Given the description of an element on the screen output the (x, y) to click on. 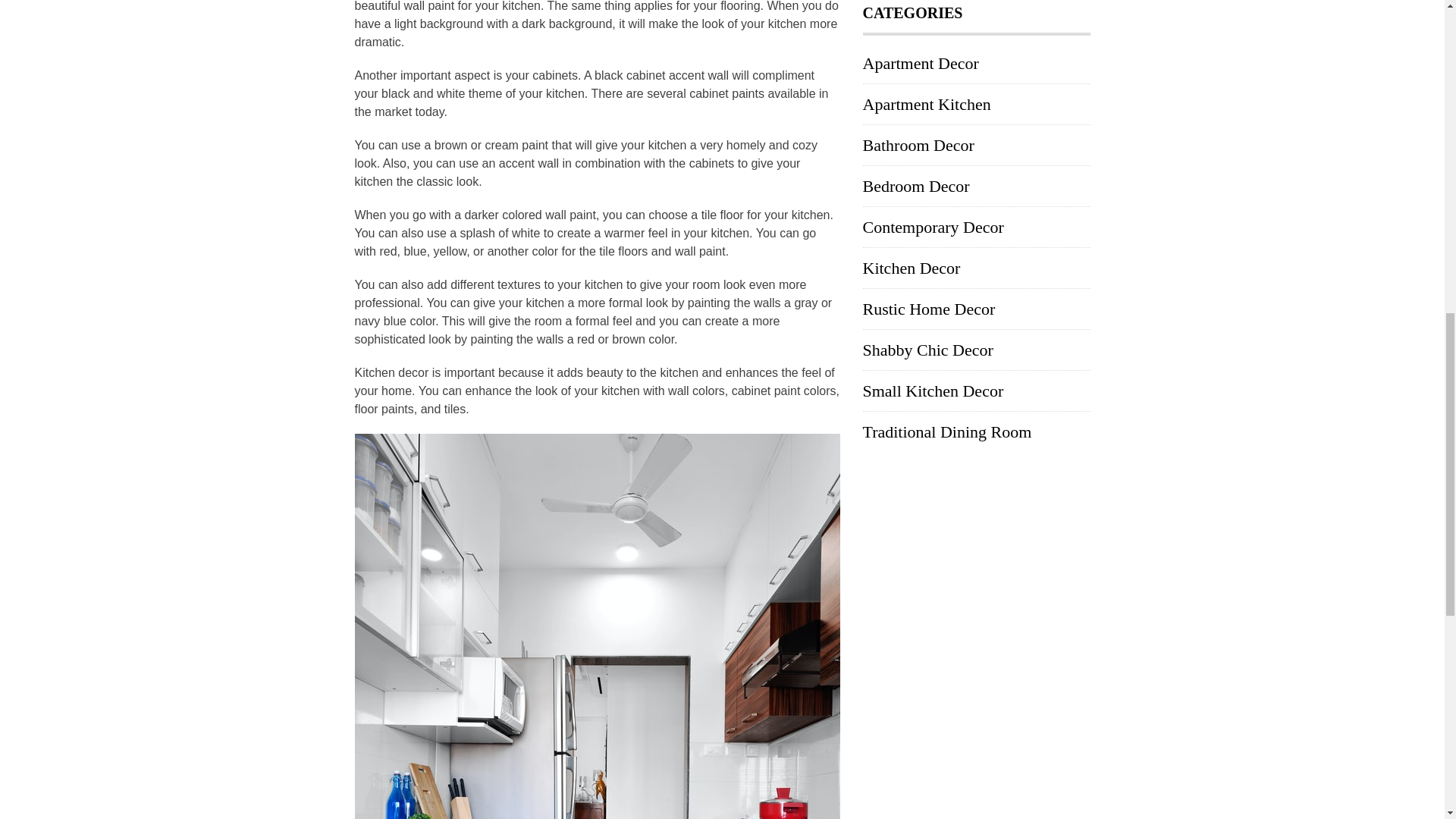
Contemporary Decor (933, 226)
Small Kitchen Decor (933, 390)
Bathroom Decor (918, 144)
Apartment Kitchen (927, 104)
Kitchen Decor (911, 267)
Rustic Home Decor (929, 308)
Traditional Dining Room (947, 431)
Apartment Decor (920, 63)
Shabby Chic Decor (927, 349)
Bedroom Decor (916, 185)
